Given the description of an element on the screen output the (x, y) to click on. 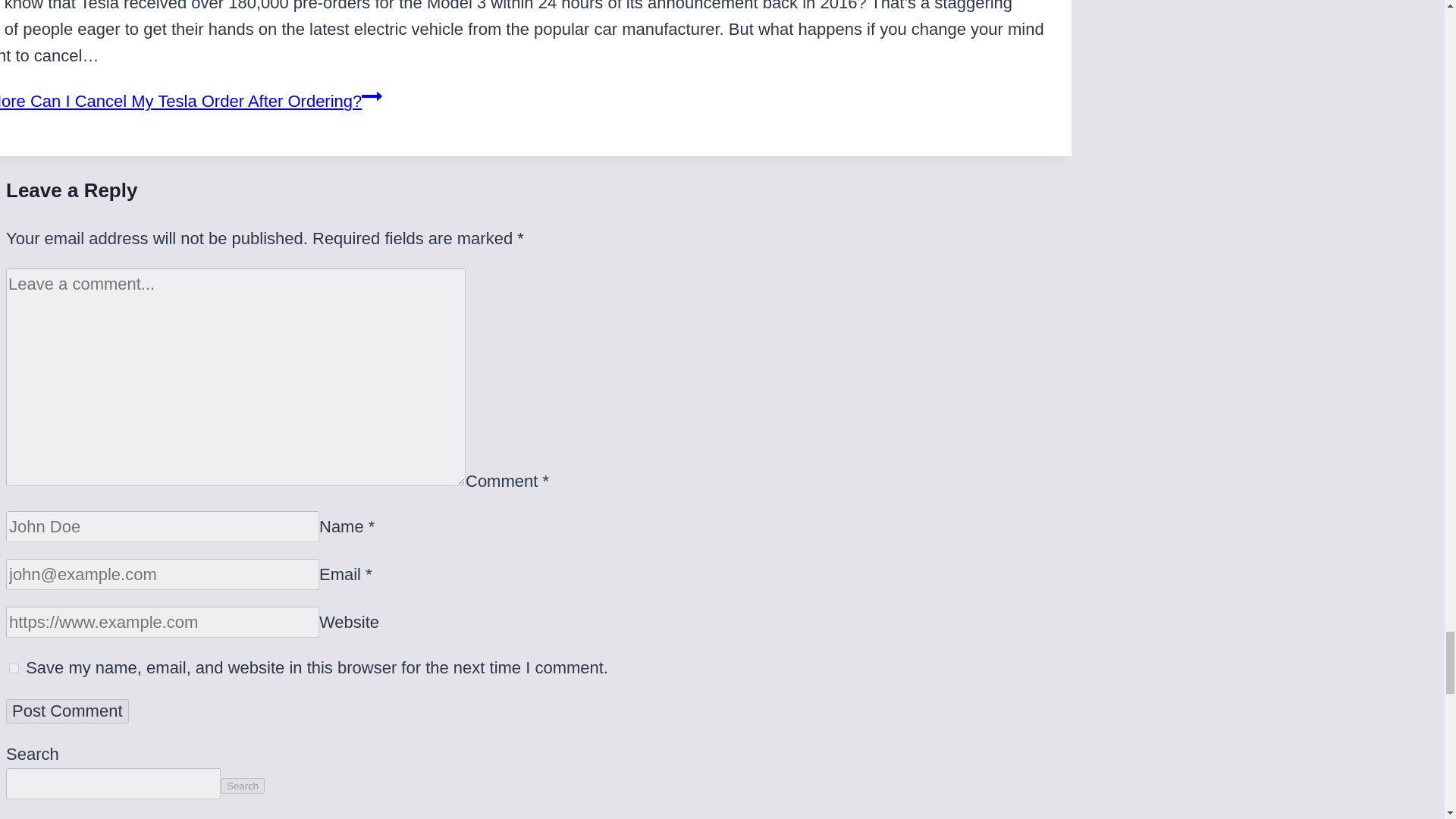
Continue (371, 96)
Post Comment (67, 711)
yes (13, 668)
